Given the description of an element on the screen output the (x, y) to click on. 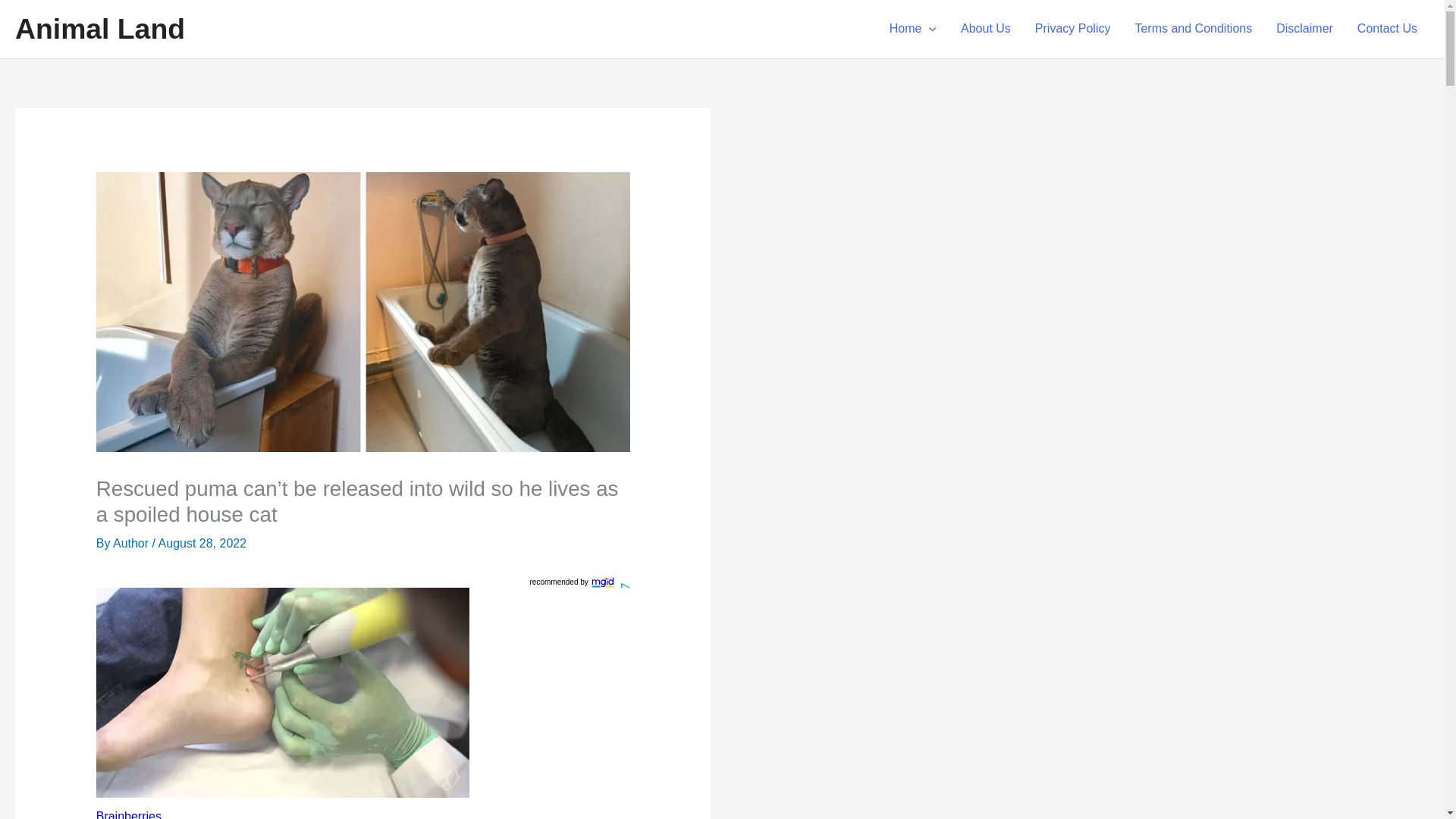
About Us (986, 28)
View all posts by Author (132, 543)
Disclaimer (1304, 28)
Privacy Policy (1072, 28)
Animal Land (99, 29)
Terms and Conditions (1192, 28)
Author (132, 543)
Home (913, 28)
Contact Us (1387, 28)
